Given the description of an element on the screen output the (x, y) to click on. 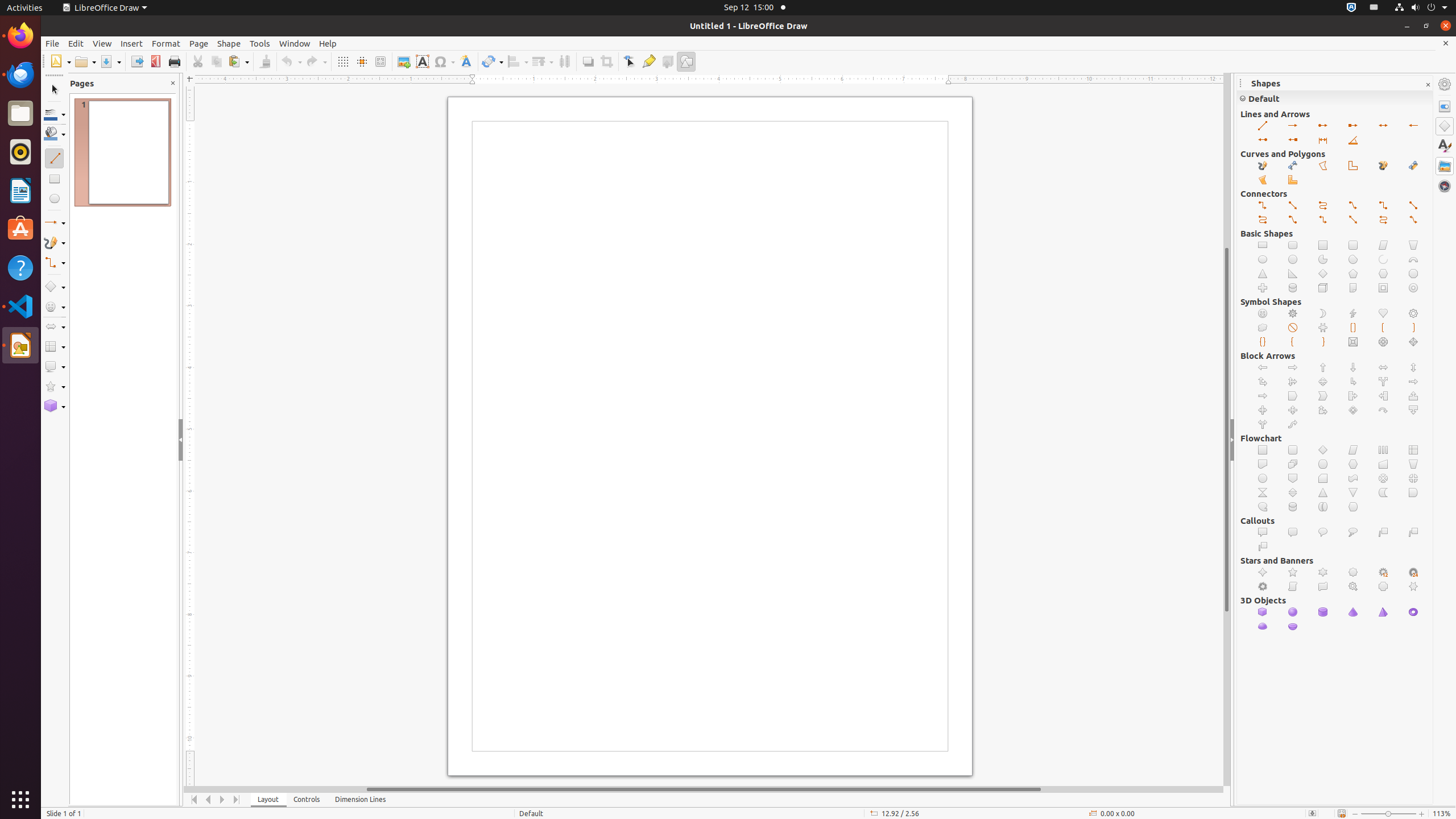
Line with Arrows Element type: list-item (1383, 125)
Insert Element type: menu (131, 43)
Flowchart: Or Element type: list-item (1413, 478)
Flowchart: Predefined Process Element type: list-item (1383, 450)
Line Callout 1 Element type: list-item (1383, 532)
